Given the description of an element on the screen output the (x, y) to click on. 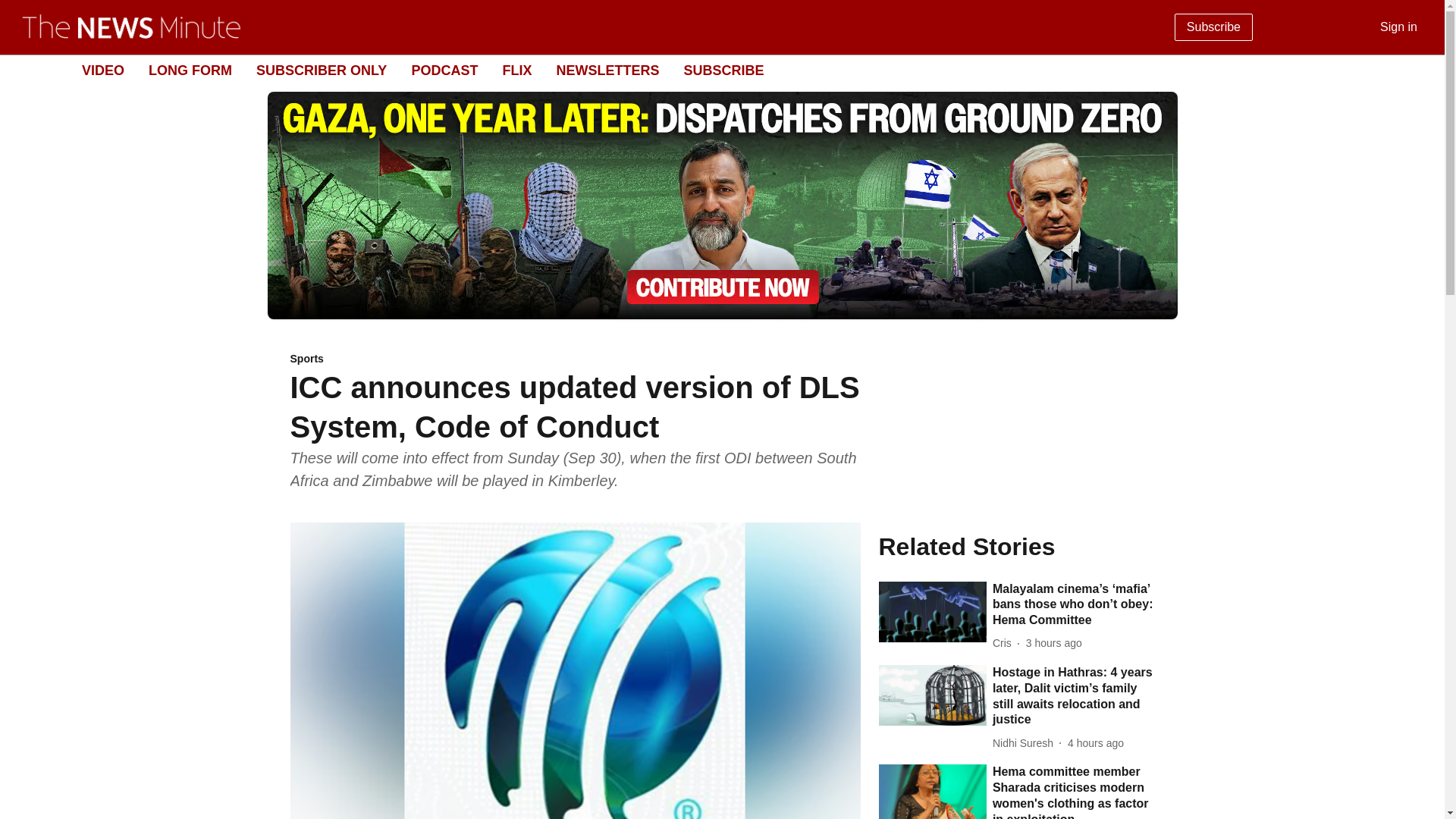
PODCAST (443, 70)
VIDEO (102, 70)
Nidhi Suresh (1025, 743)
Sports (574, 359)
LONG FORM (189, 70)
Related Stories (1015, 545)
2024-08-19 14:00 (1095, 743)
2024-08-19 14:37 (1053, 643)
